Given the description of an element on the screen output the (x, y) to click on. 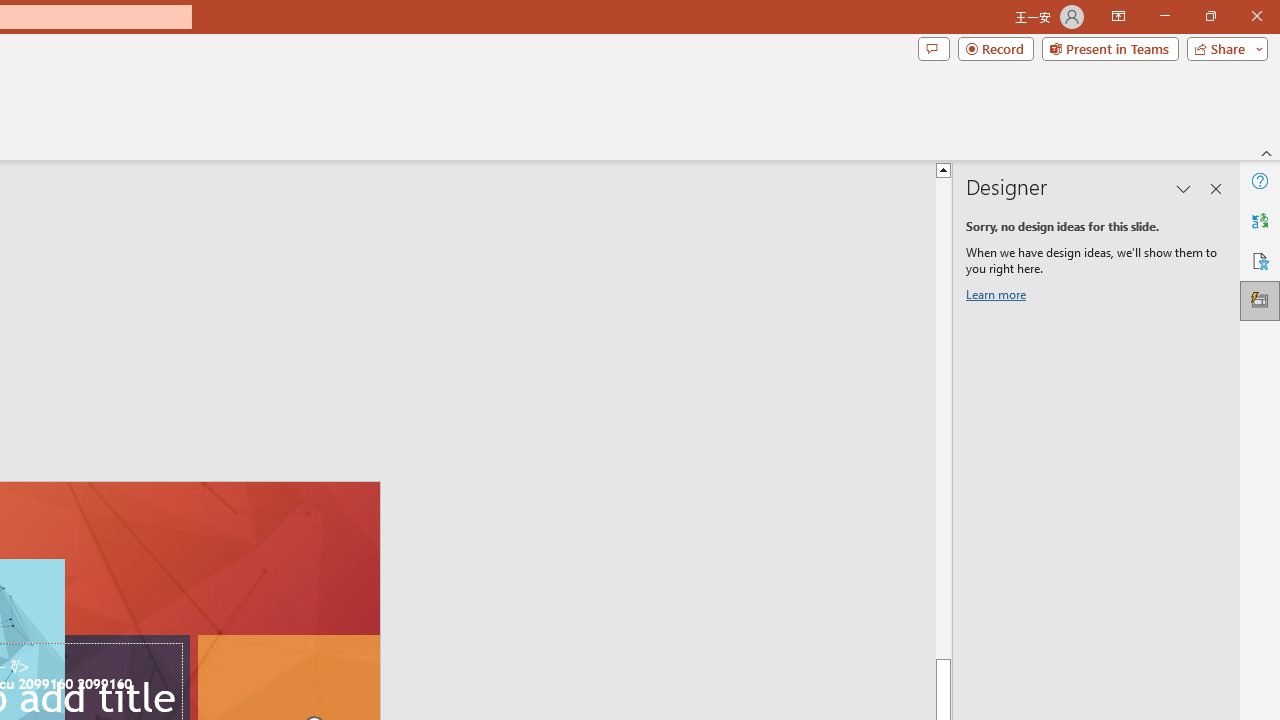
Learn more (998, 297)
